Given the description of an element on the screen output the (x, y) to click on. 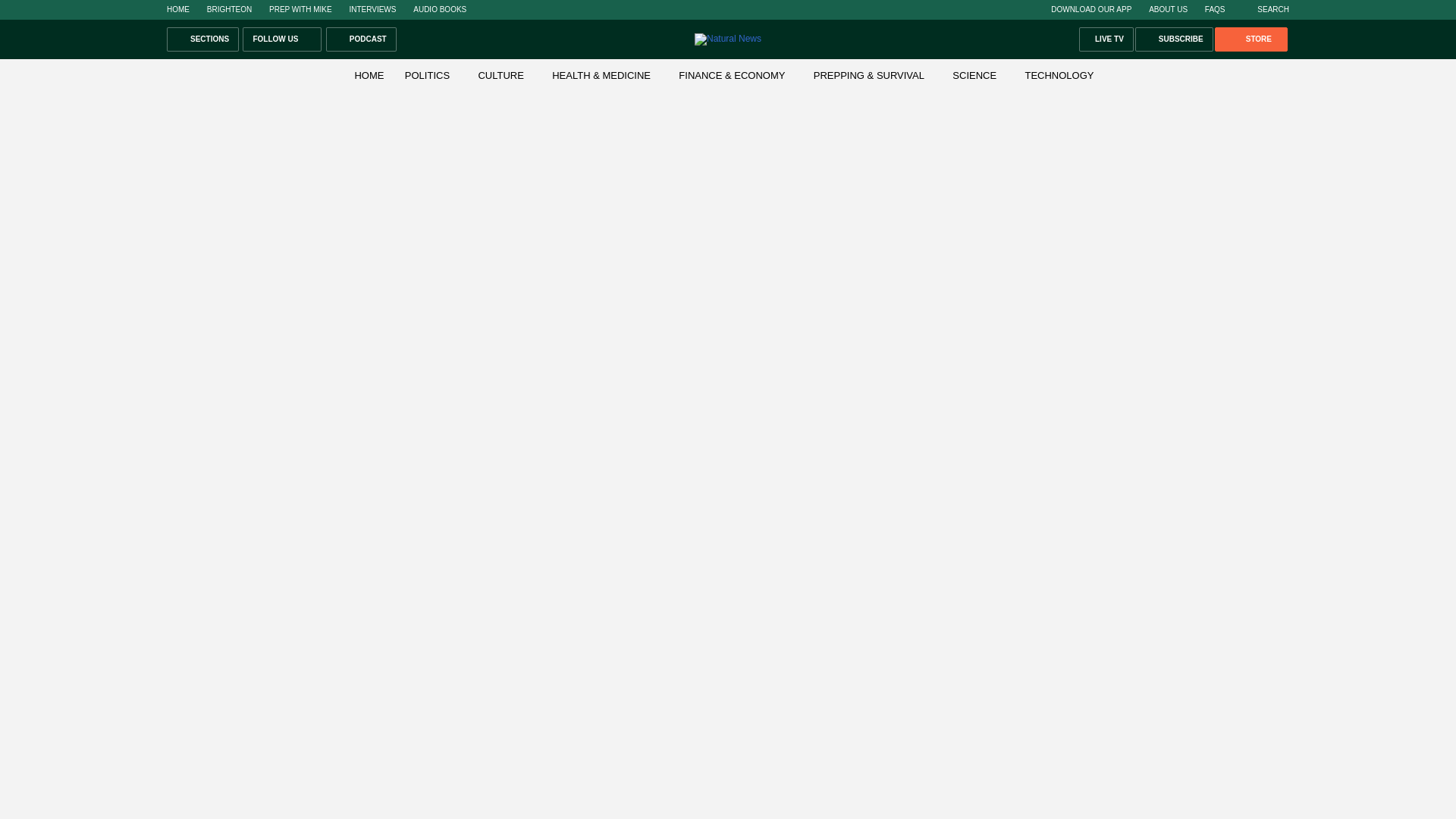
SEARCH (1264, 8)
POLITICS (427, 75)
HOME (369, 75)
TECHNOLOGY (1058, 75)
FAQS (1215, 8)
AUDIO BOOKS (439, 8)
BRIGHTEON (228, 8)
SUBSCRIBE (1173, 39)
HOME (178, 8)
INTERVIEWS (372, 8)
SCIENCE (974, 75)
LIVE TV (1106, 39)
DOWNLOAD OUR APP (1091, 8)
CULTURE (500, 75)
PODCAST (361, 39)
